Given the description of an element on the screen output the (x, y) to click on. 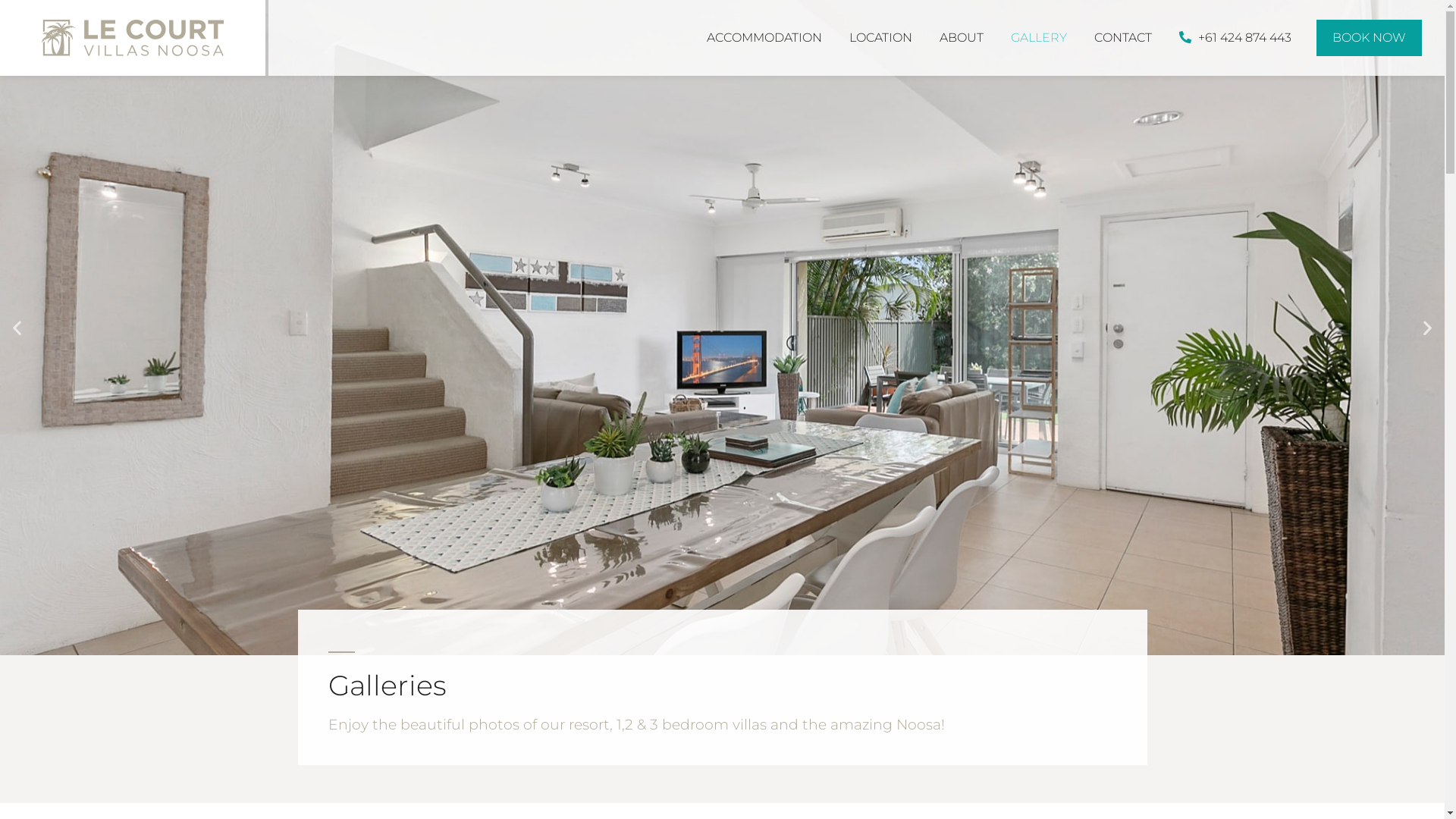
GALLERY Element type: text (1038, 37)
BOOK NOW Element type: text (1368, 37)
LOCATION Element type: text (880, 37)
+61 424 874 443 Element type: text (1235, 37)
CONTACT Element type: text (1122, 37)
ABOUT Element type: text (961, 37)
ACCOMMODATION Element type: text (764, 37)
